Given the description of an element on the screen output the (x, y) to click on. 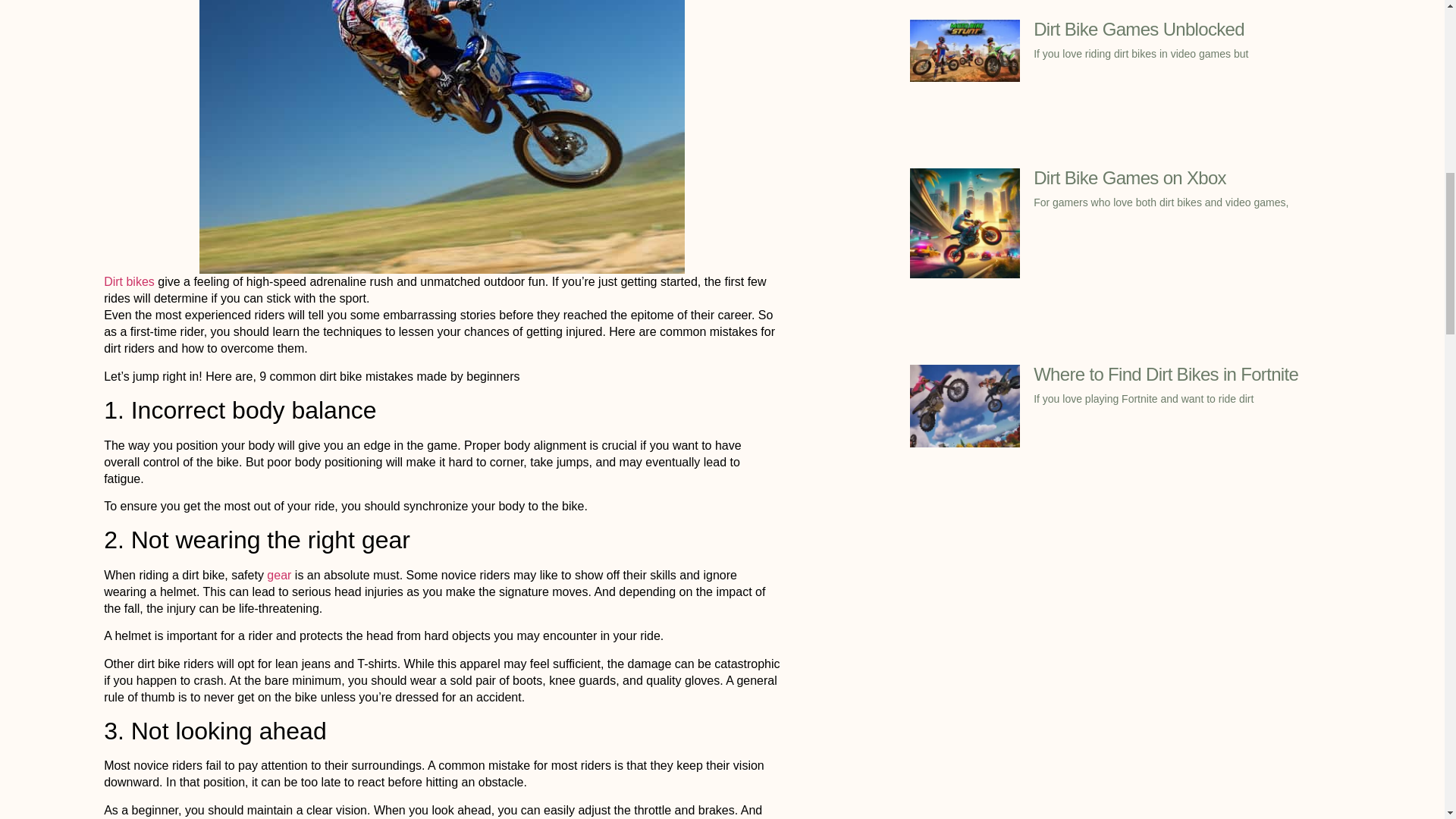
Where to Find Dirt Bikes in Fortnite (1165, 373)
Dirt Bike Games Unblocked (1138, 28)
gear (280, 574)
Dirt bikes (128, 281)
Dirt Bike Games on Xbox (1129, 177)
